Given the description of an element on the screen output the (x, y) to click on. 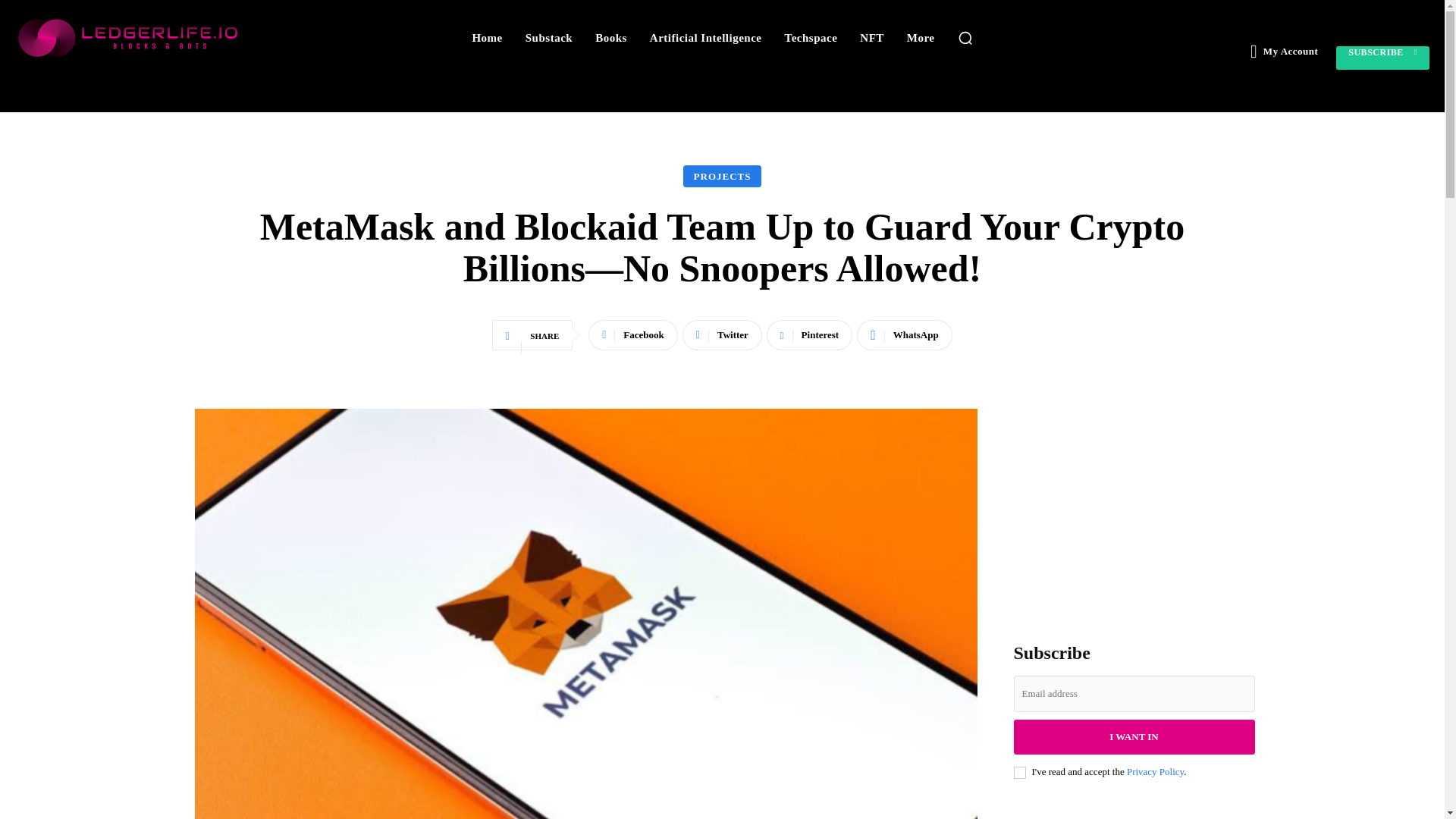
SUBSCRIBE (1382, 57)
Artificial Intelligence (706, 38)
WhatsApp (904, 335)
Advertisement (1133, 503)
Facebook (633, 335)
Techspace (811, 38)
Pinterest (809, 335)
Twitter (721, 335)
Subscribe (1382, 57)
